Given the description of an element on the screen output the (x, y) to click on. 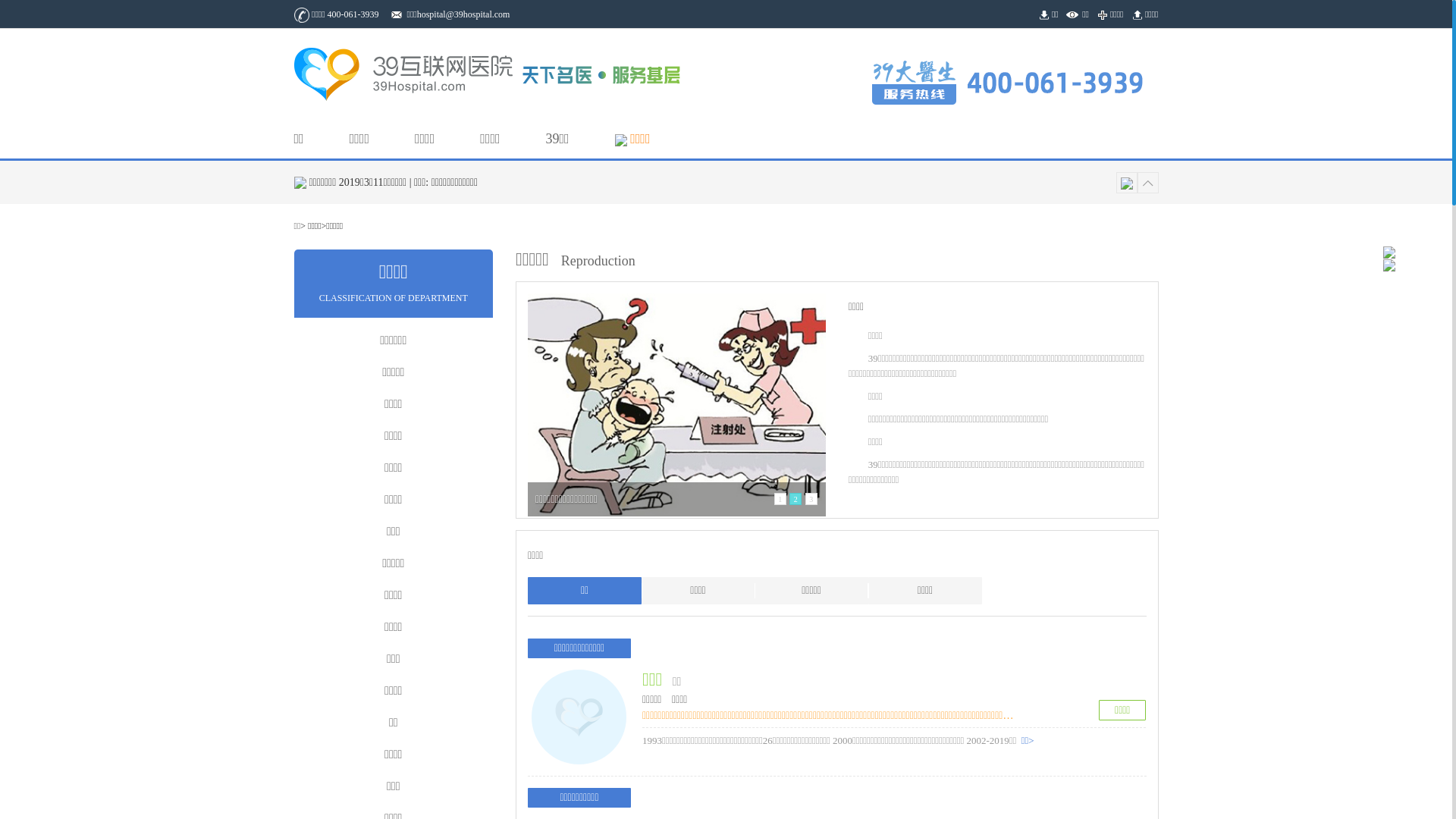
39 hospital.com Element type: hover (404, 73)
